Given the description of an element on the screen output the (x, y) to click on. 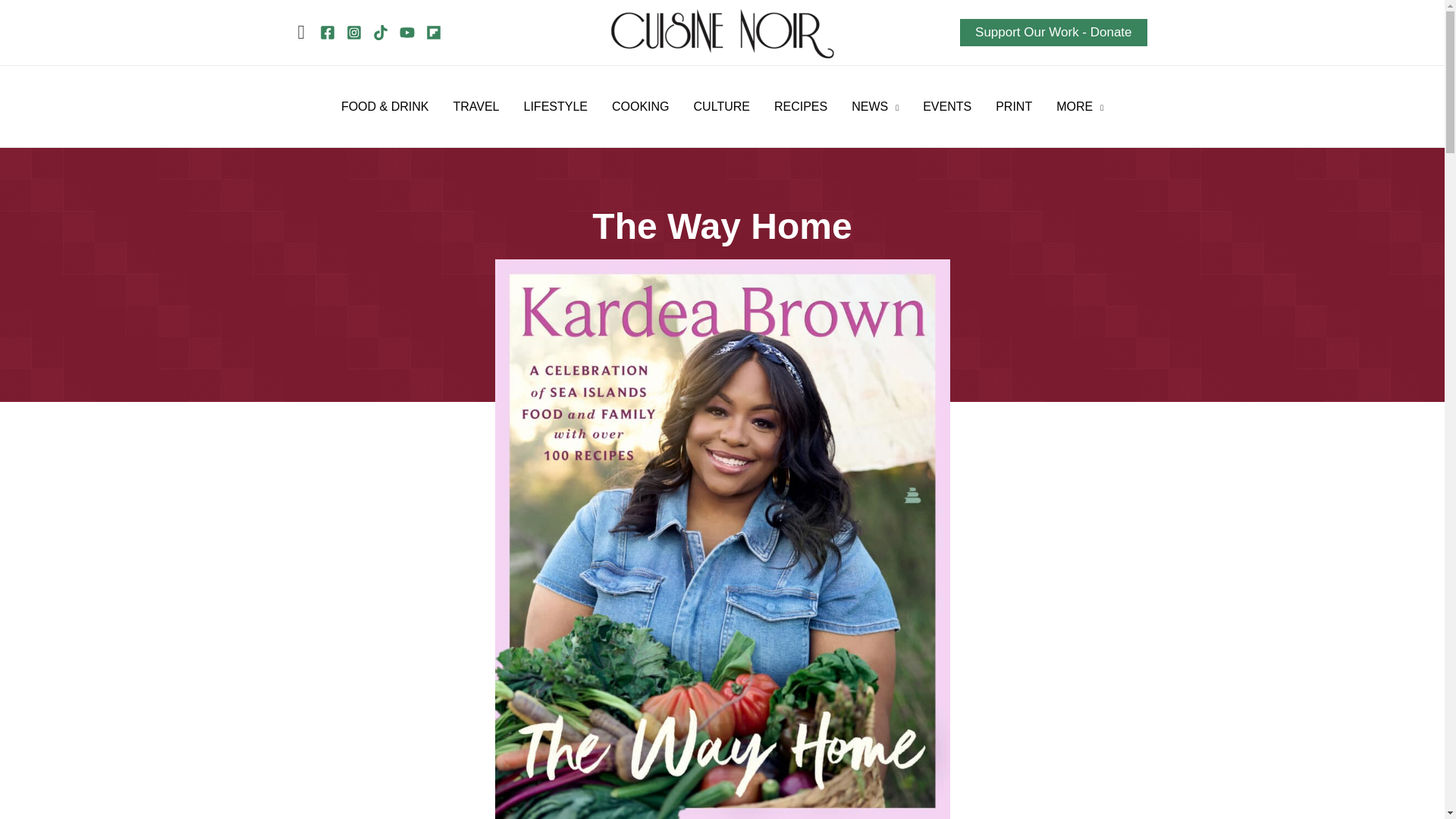
LIFESTYLE (555, 106)
Support Our Work - Donate (1053, 31)
COOKING (640, 106)
RECIPES (800, 106)
CULTURE (721, 106)
MORE (1079, 106)
PRINT (1013, 106)
EVENTS (947, 106)
NEWS (875, 106)
TRAVEL (476, 106)
